Given the description of an element on the screen output the (x, y) to click on. 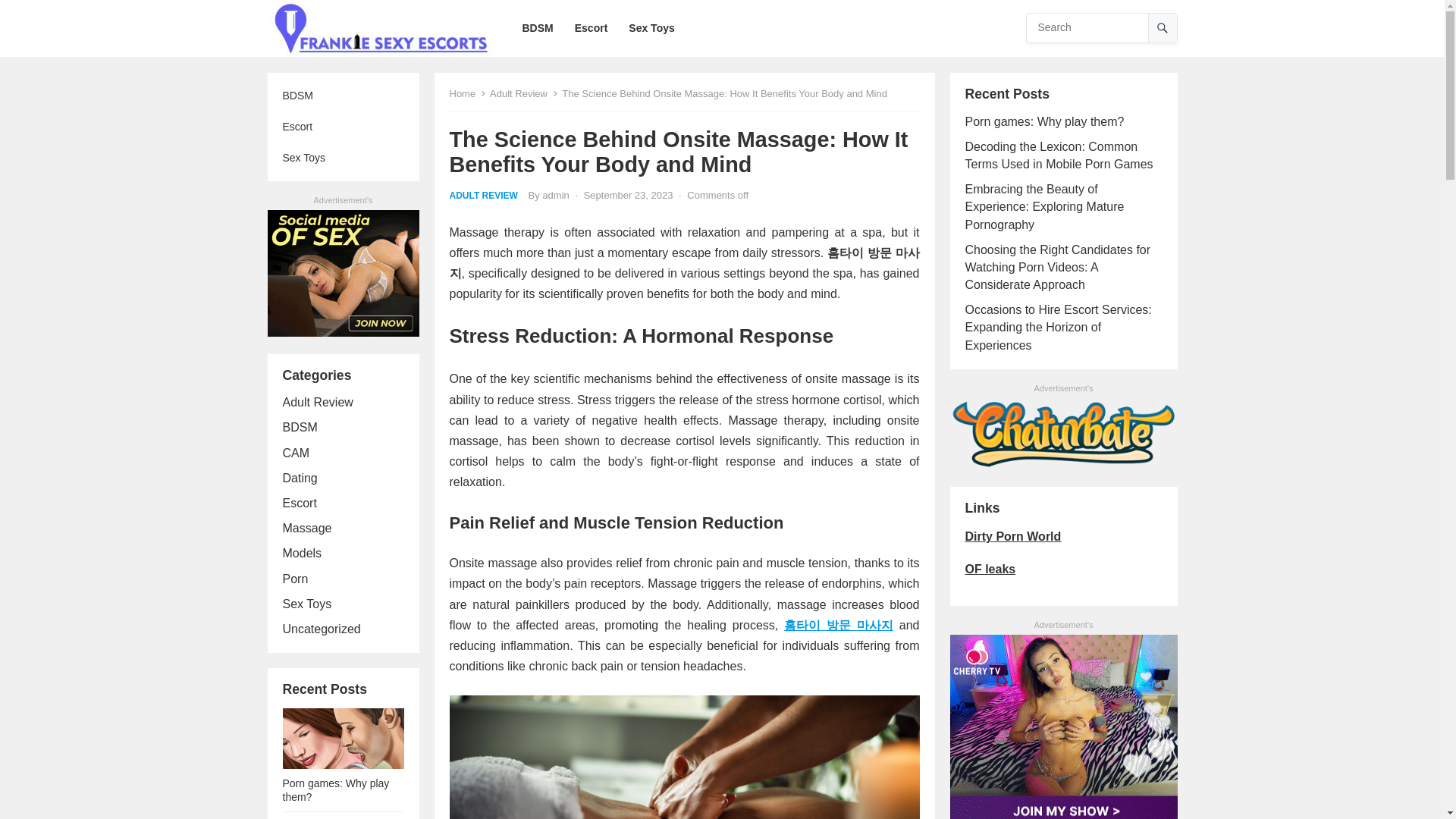
Sex Toys (651, 28)
CAM (295, 452)
Sex Toys (342, 157)
BDSM (299, 427)
Models (301, 553)
Dating (299, 477)
Adult Review (317, 401)
Escort (591, 28)
Sex Toys (306, 603)
BDSM (342, 95)
